Given the description of an element on the screen output the (x, y) to click on. 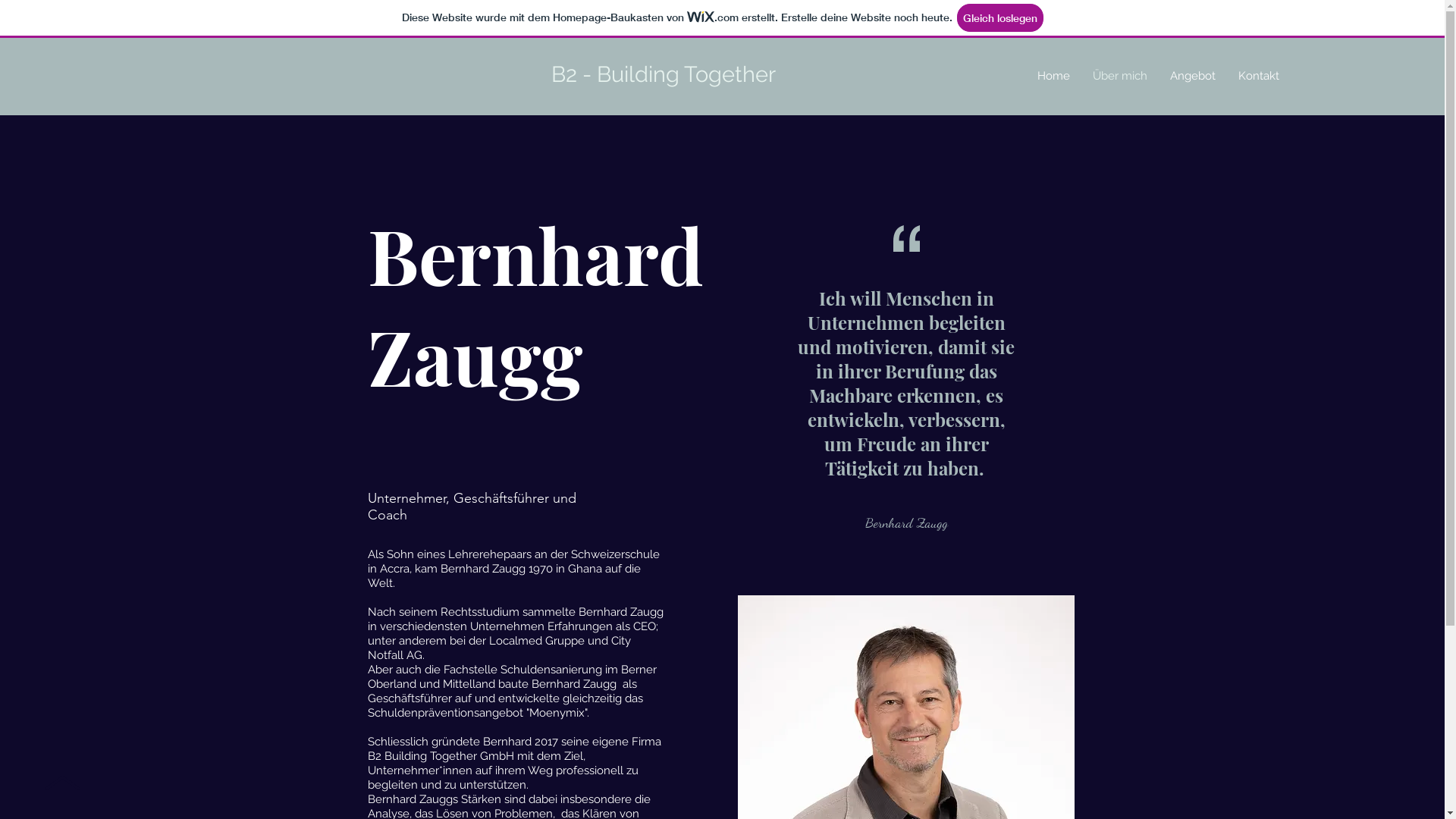
Home Element type: text (1053, 75)
Kontakt Element type: text (1258, 75)
B2 - Building Together Element type: text (663, 74)
Angebot Element type: text (1192, 75)
